Given the description of an element on the screen output the (x, y) to click on. 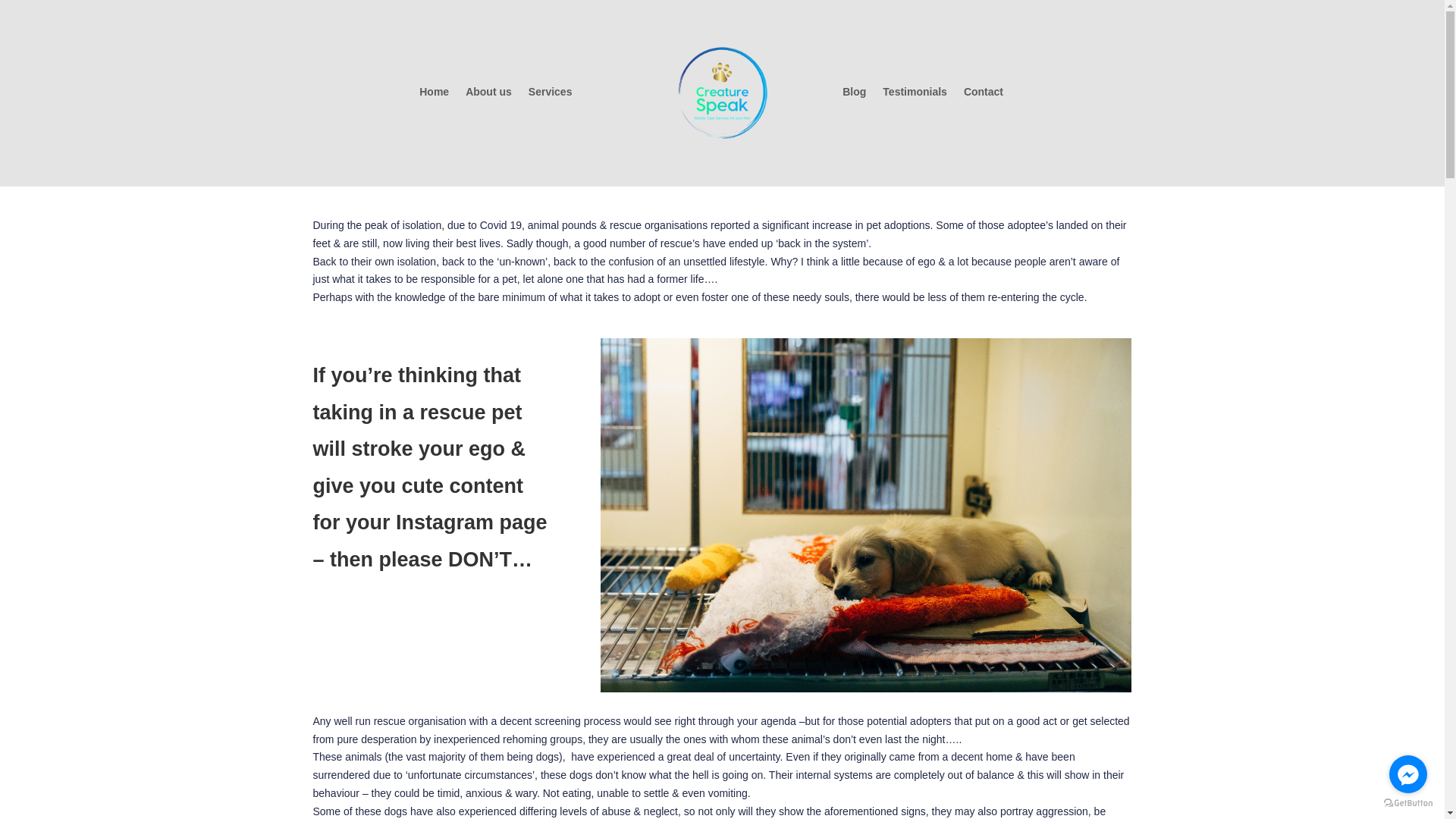
Contact Element type: text (983, 94)
Blog Element type: text (854, 94)
About us Element type: text (488, 94)
Testimonials Element type: text (914, 94)
Home Element type: text (433, 94)
Services Element type: text (550, 94)
